Given the description of an element on the screen output the (x, y) to click on. 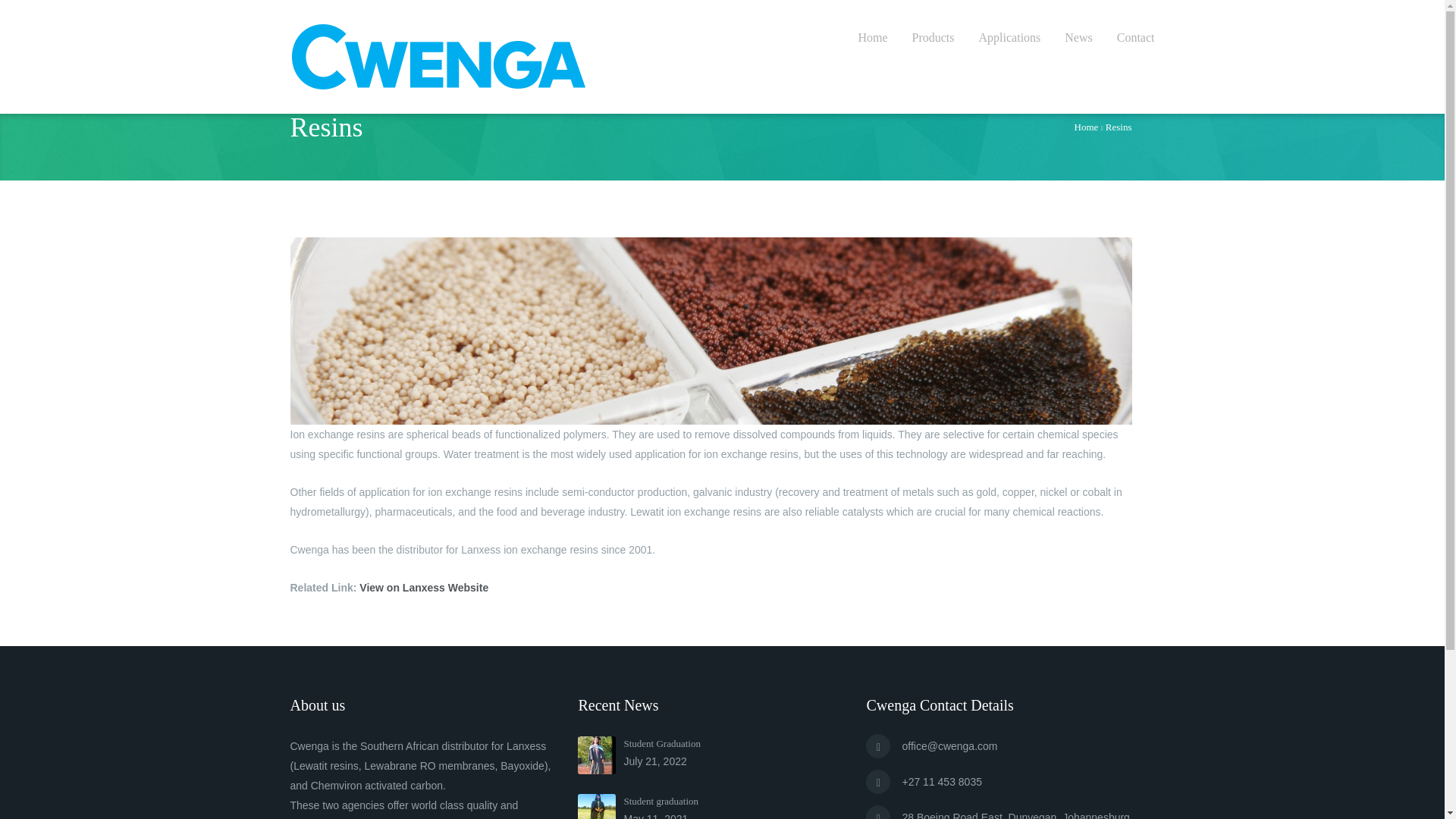
Applications (1009, 37)
Student Graduation (596, 754)
Student Graduation (661, 743)
View on Lanxess Website (423, 587)
Contact (1135, 37)
News (1078, 37)
Student graduation (596, 806)
Home (871, 37)
Student graduation (660, 800)
